Given the description of an element on the screen output the (x, y) to click on. 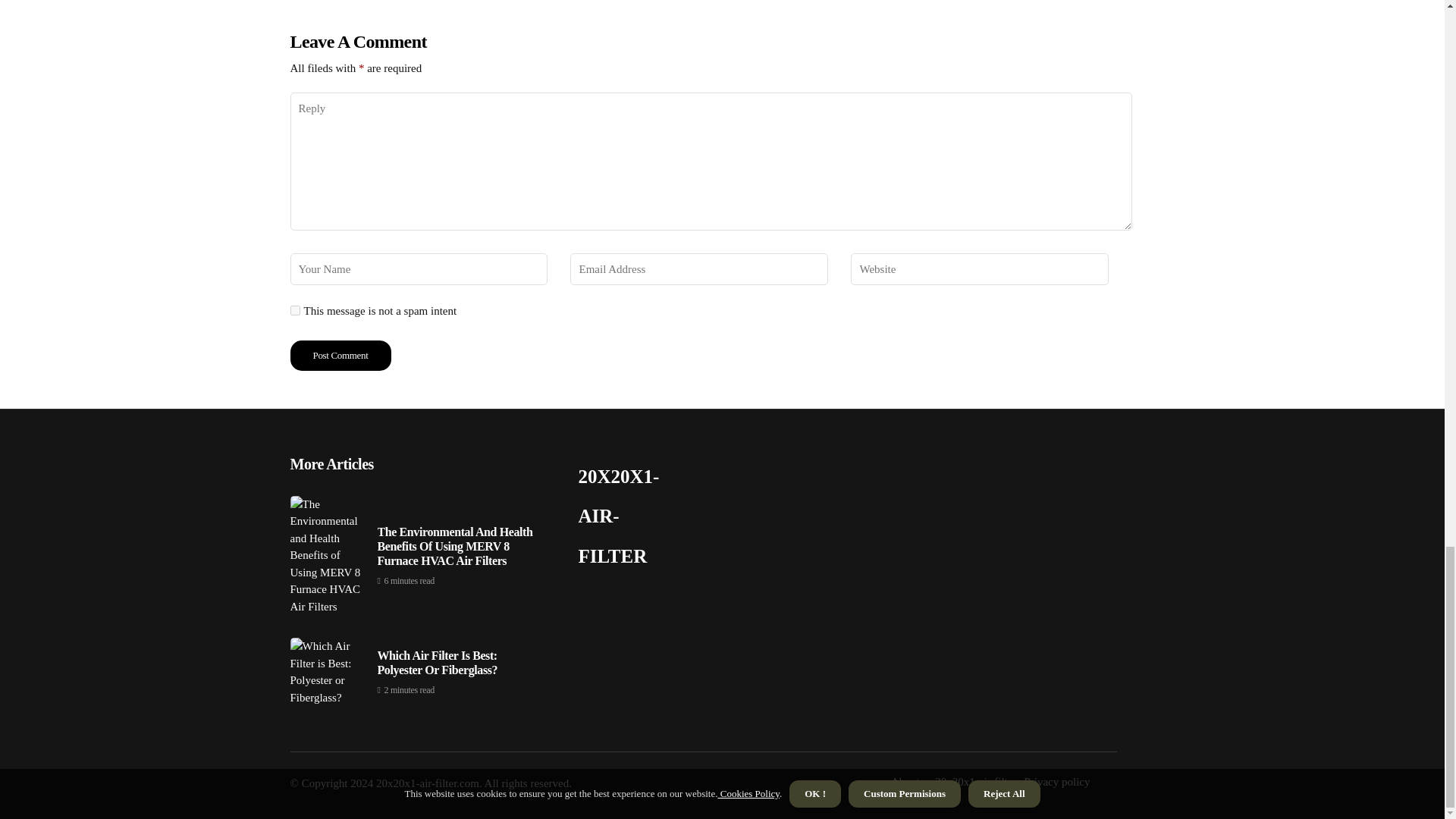
Post Comment (339, 355)
yes (294, 310)
Post Comment (339, 355)
